Given the description of an element on the screen output the (x, y) to click on. 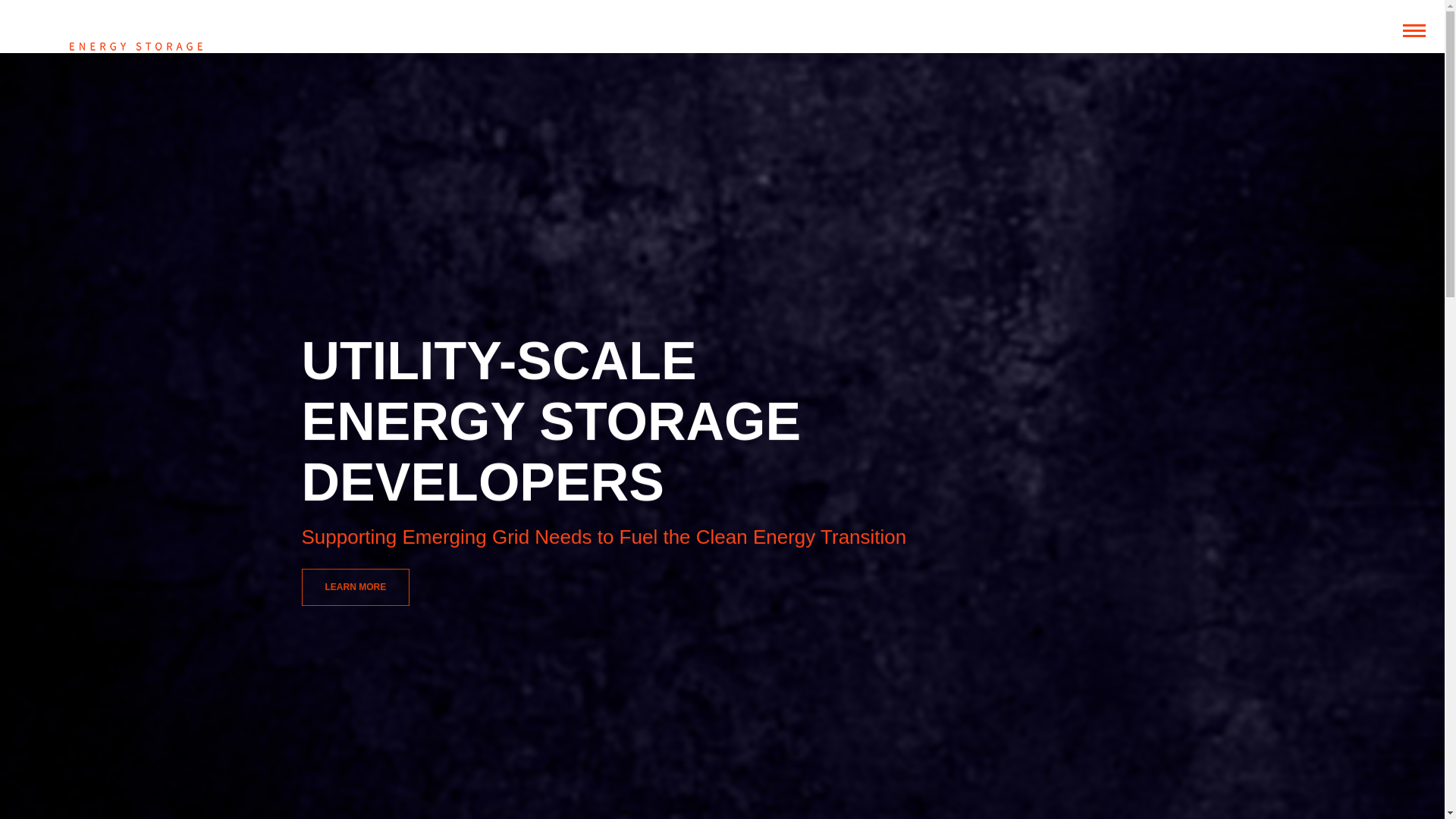
LEARN MORE (355, 334)
About Us (355, 587)
LEARN MORE (355, 356)
